Given the description of an element on the screen output the (x, y) to click on. 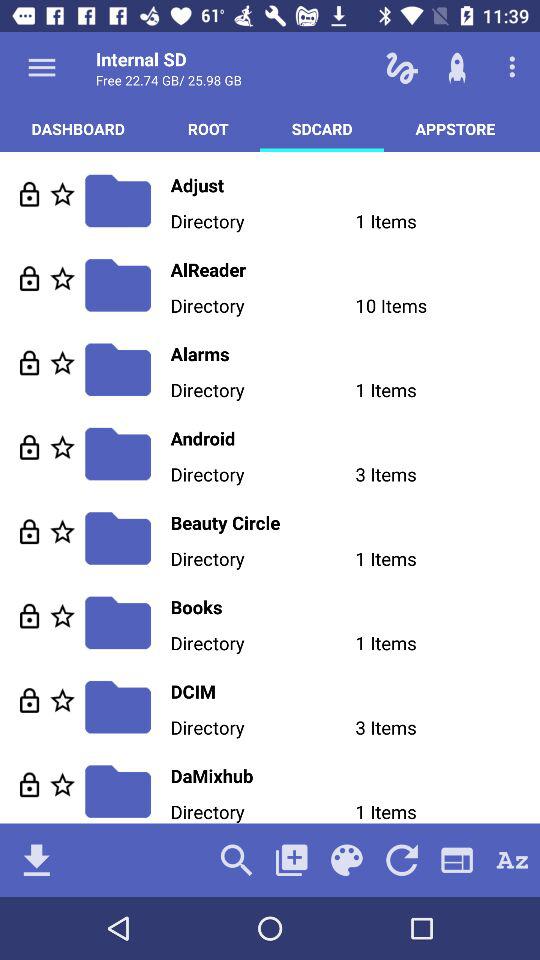
go to lagk (29, 615)
